Given the description of an element on the screen output the (x, y) to click on. 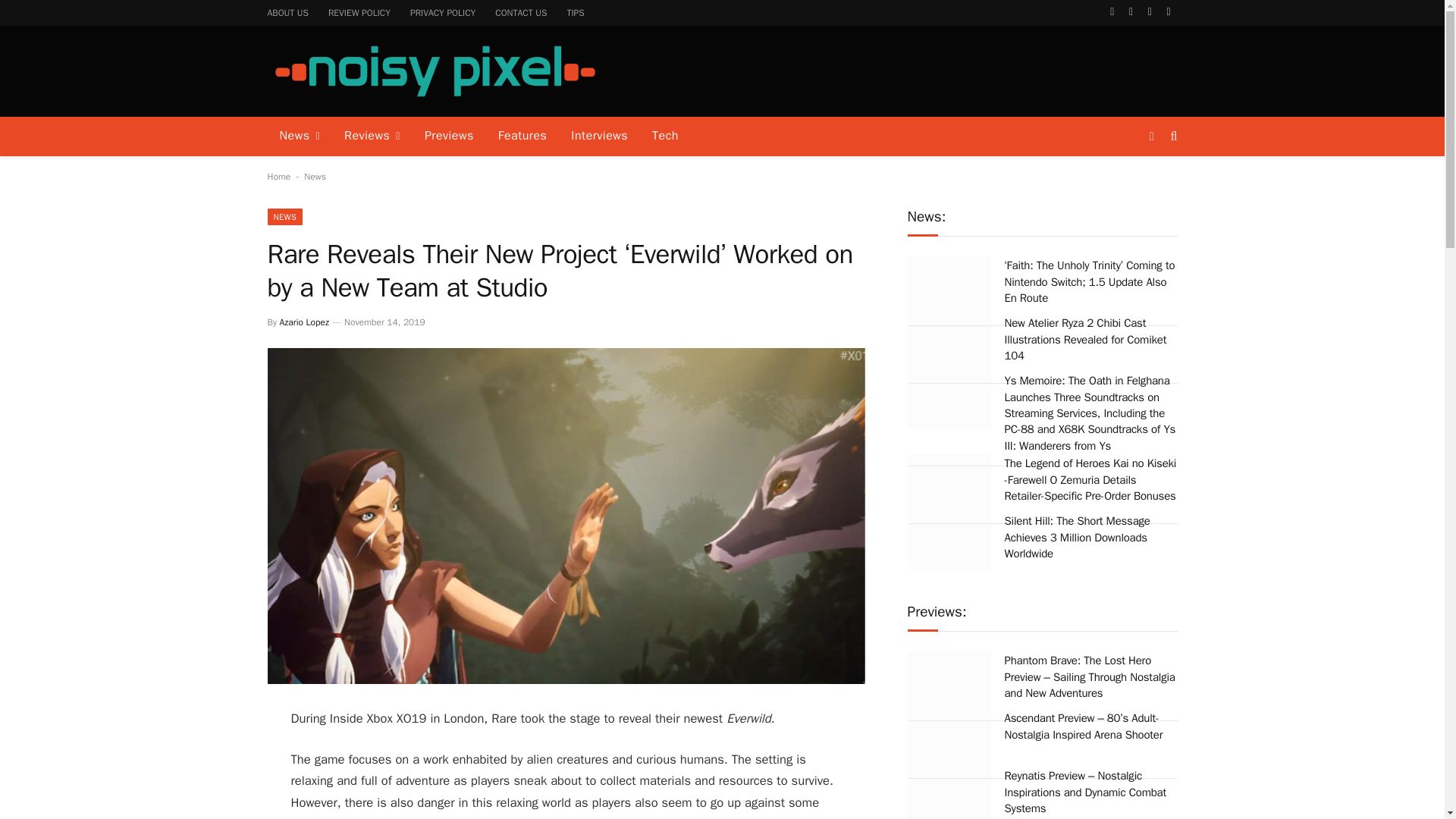
ABOUT US (287, 12)
Noisy Pixel (434, 71)
Features (522, 136)
Switch to Dark Design - easier on eyes. (1151, 136)
Azario Lopez (304, 322)
Reviews (371, 136)
PRIVACY POLICY (442, 12)
CONTACT US (520, 12)
REVIEW POLICY (359, 12)
Posts by Azario Lopez (304, 322)
News (298, 136)
Home (277, 176)
News (315, 176)
TIPS (575, 12)
Interviews (599, 136)
